Given the description of an element on the screen output the (x, y) to click on. 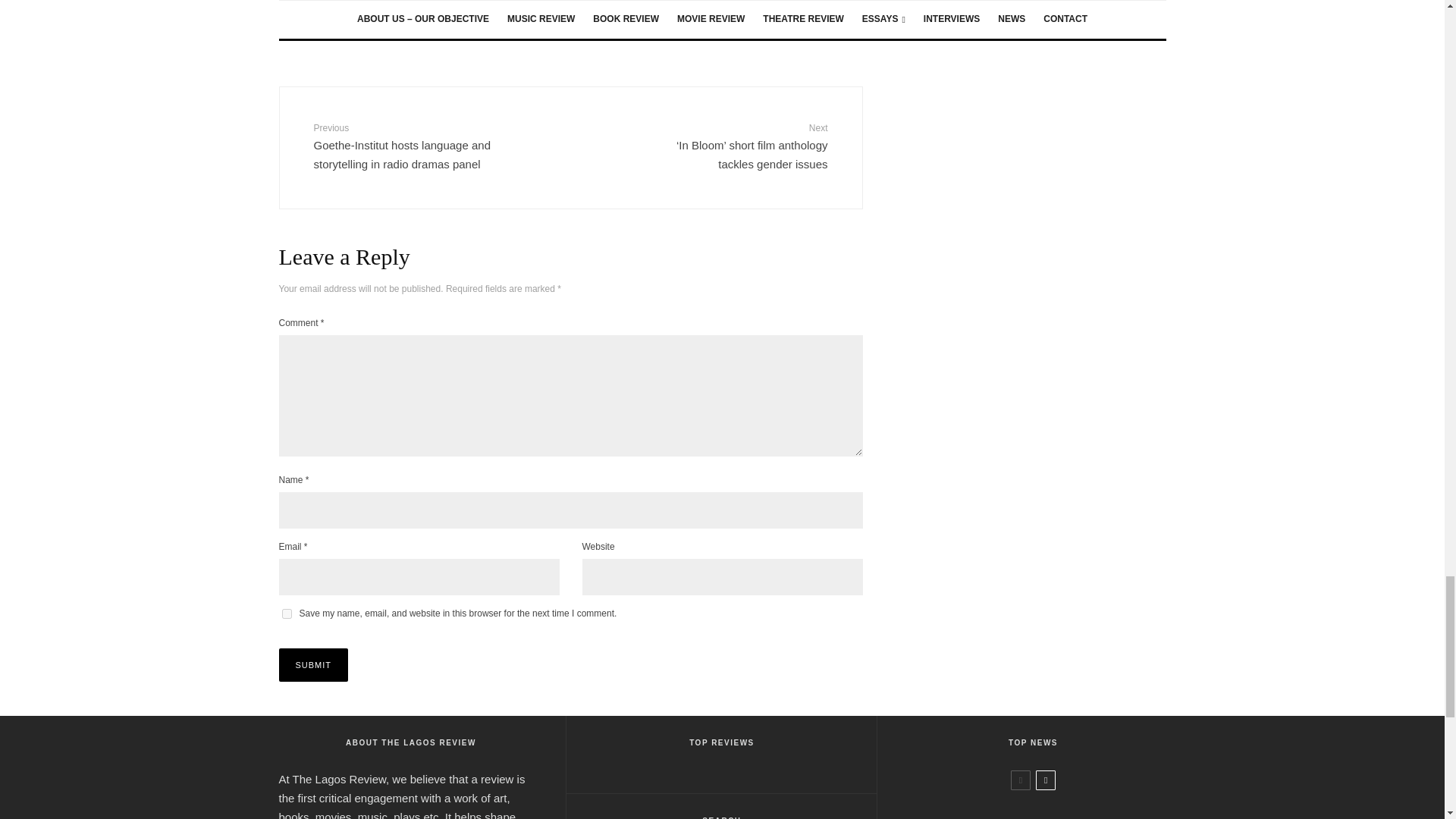
yes (287, 614)
Submit (314, 664)
